Given the description of an element on the screen output the (x, y) to click on. 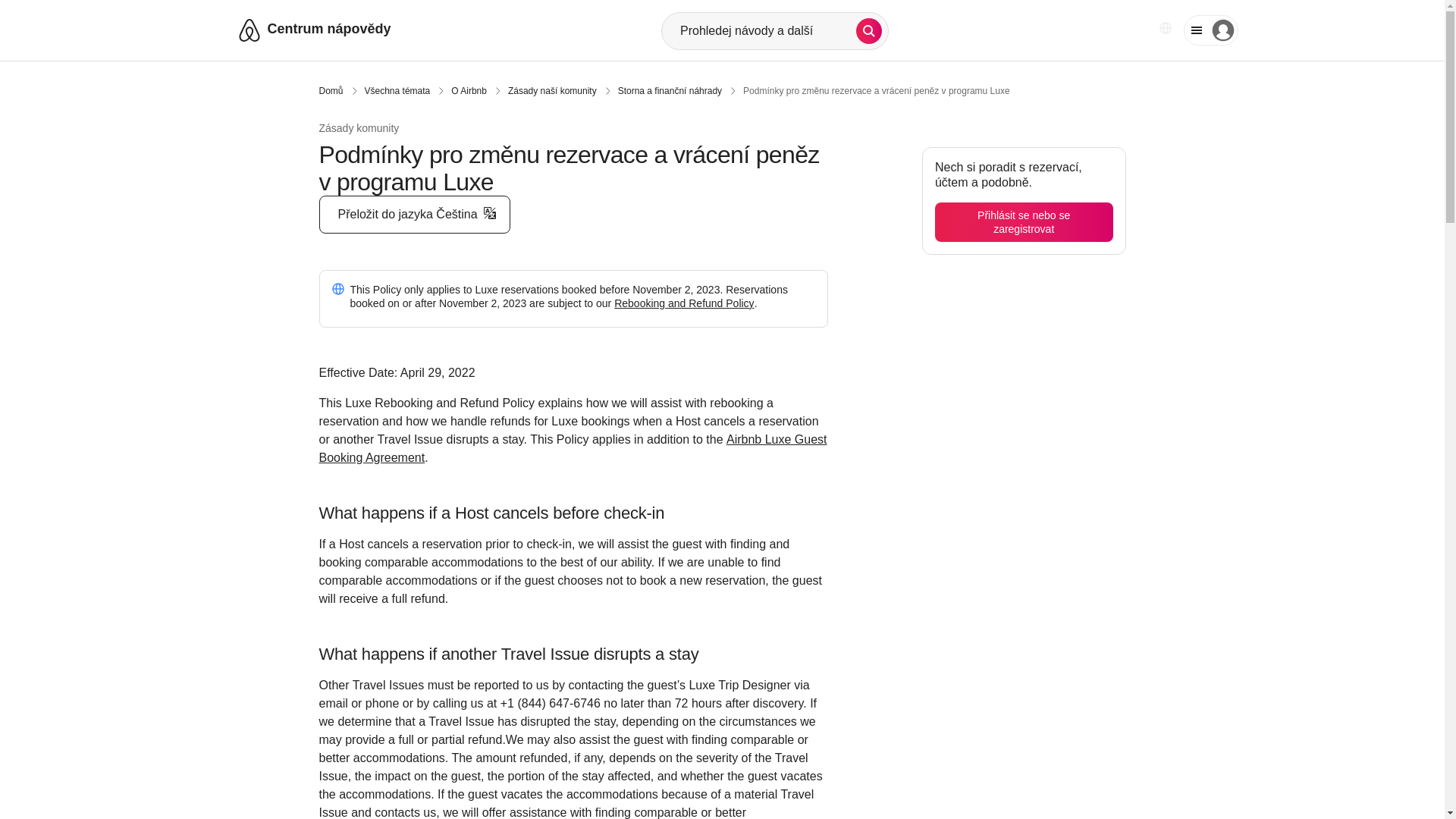
Airbnb Luxe Guest Booking Agreement (572, 448)
Rebooking and Refund Policy (684, 303)
